Given the description of an element on the screen output the (x, y) to click on. 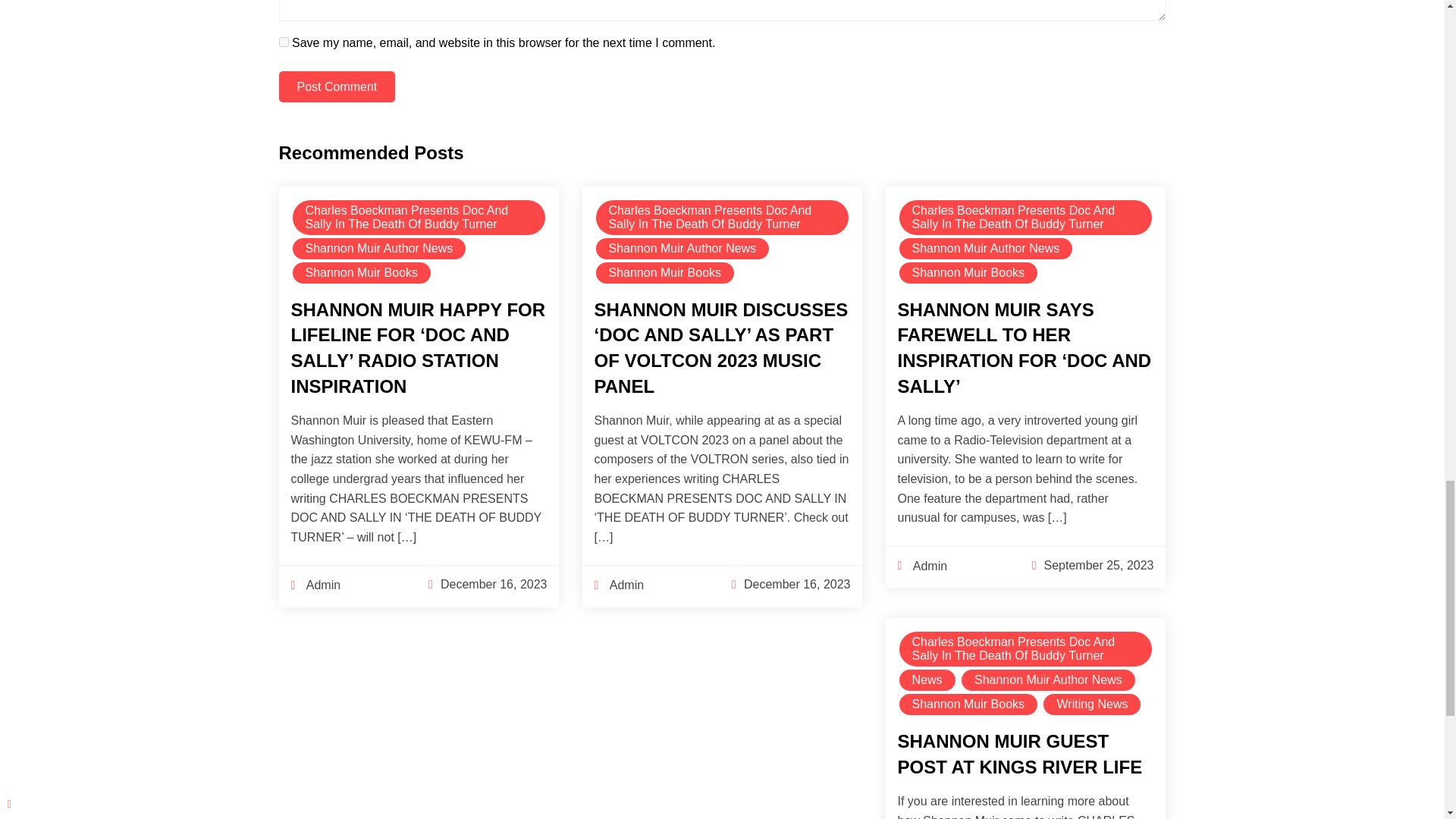
December 16, 2023 (797, 584)
yes (283, 41)
September 25, 2023 (1098, 564)
December 16, 2023 (494, 584)
Admin (619, 584)
Shannon Muir Books (361, 273)
Shannon Muir Author News (986, 248)
Shannon Muir Books (665, 273)
Admin (315, 584)
Shannon Muir Author News (682, 248)
Admin (922, 566)
Shannon Muir Author News (379, 248)
